Given the description of an element on the screen output the (x, y) to click on. 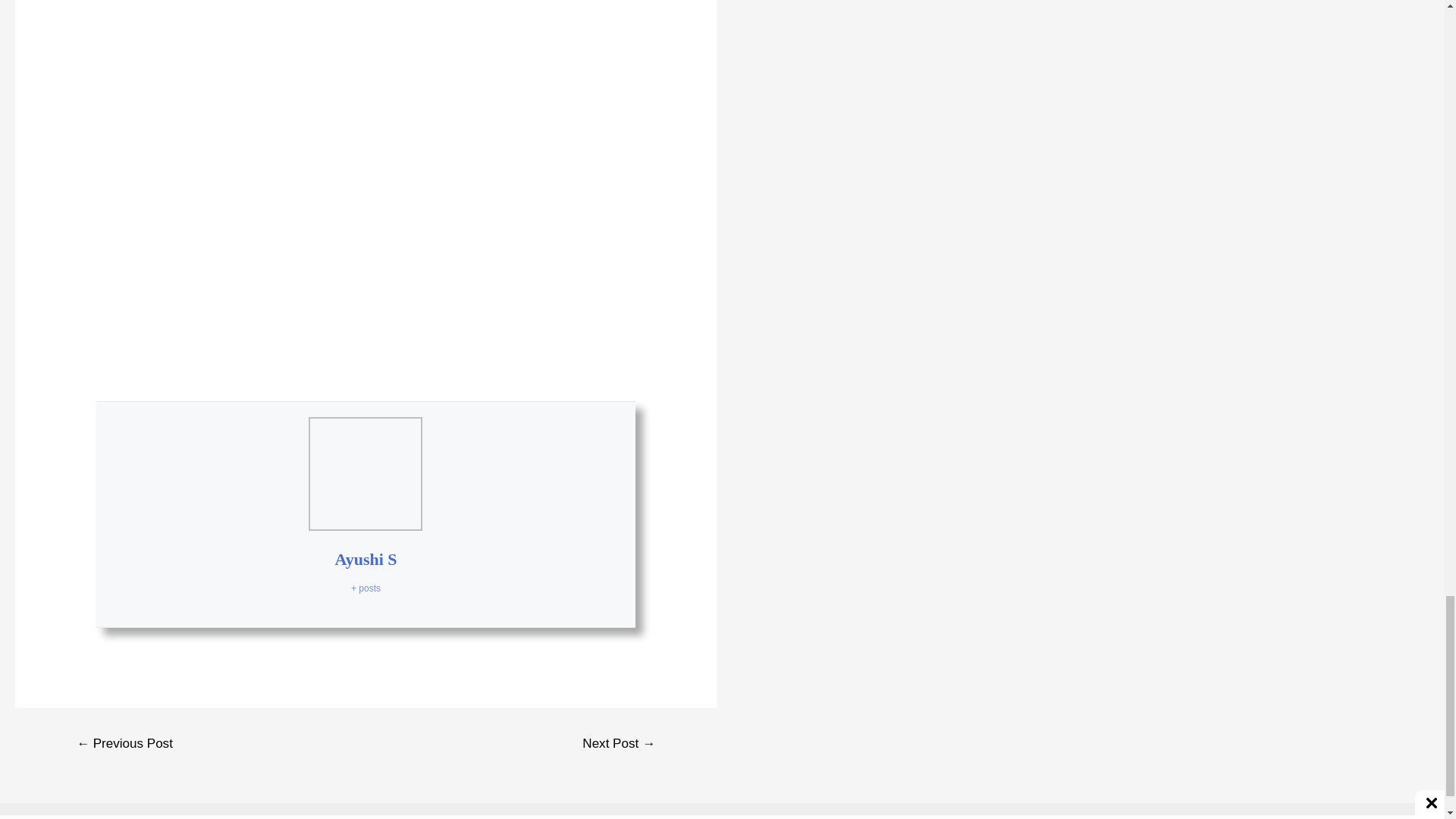
Ayushi S (365, 558)
